Given the description of an element on the screen output the (x, y) to click on. 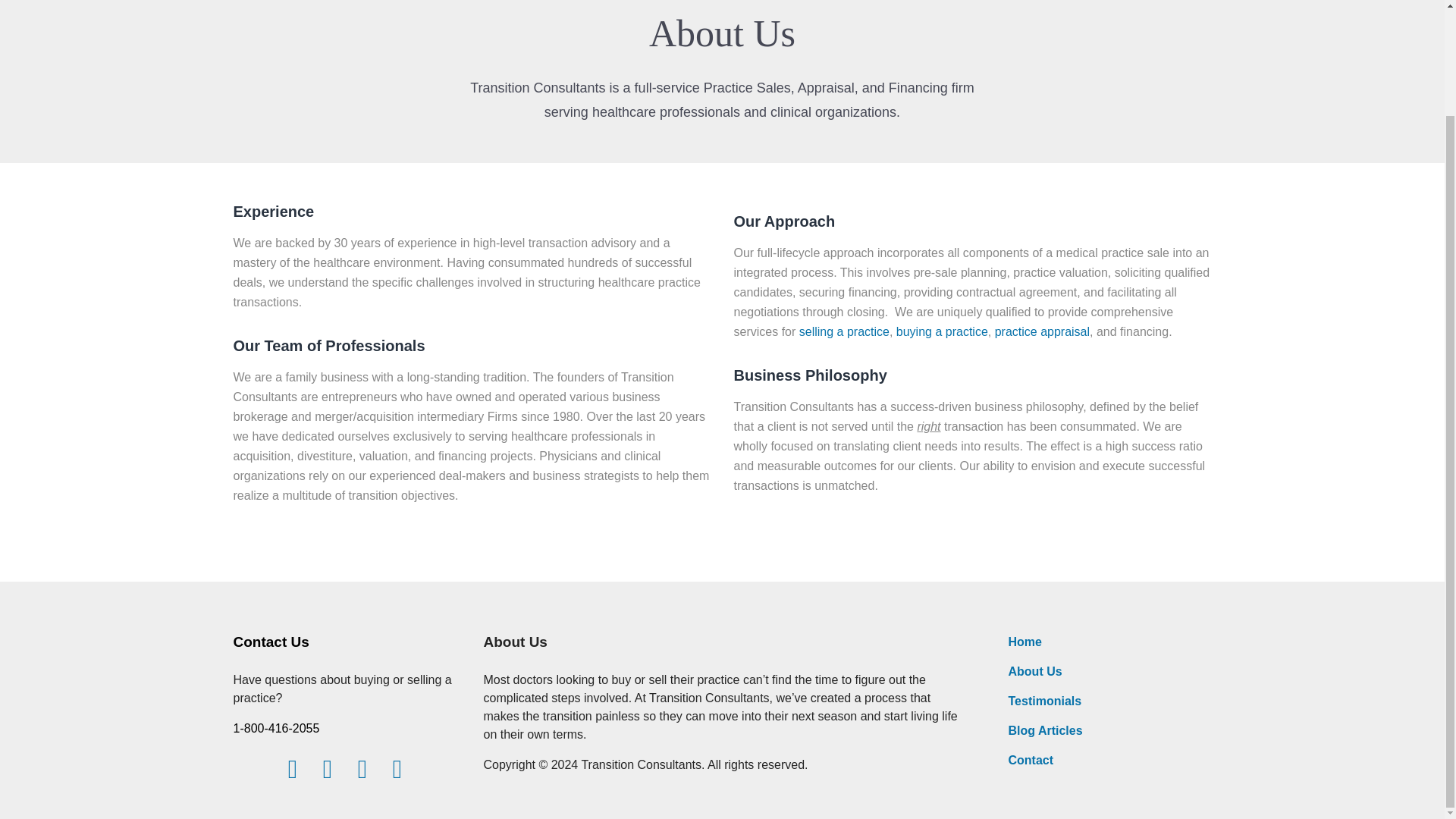
Blog Articles (1046, 730)
selling a practice (844, 331)
Contact Us (270, 641)
Testimonials (1045, 700)
practice appraisal (1041, 331)
1-800-416-2055 (276, 727)
buying a practice (942, 331)
Contact (1031, 759)
Home (1025, 641)
About Us (1035, 671)
